Given the description of an element on the screen output the (x, y) to click on. 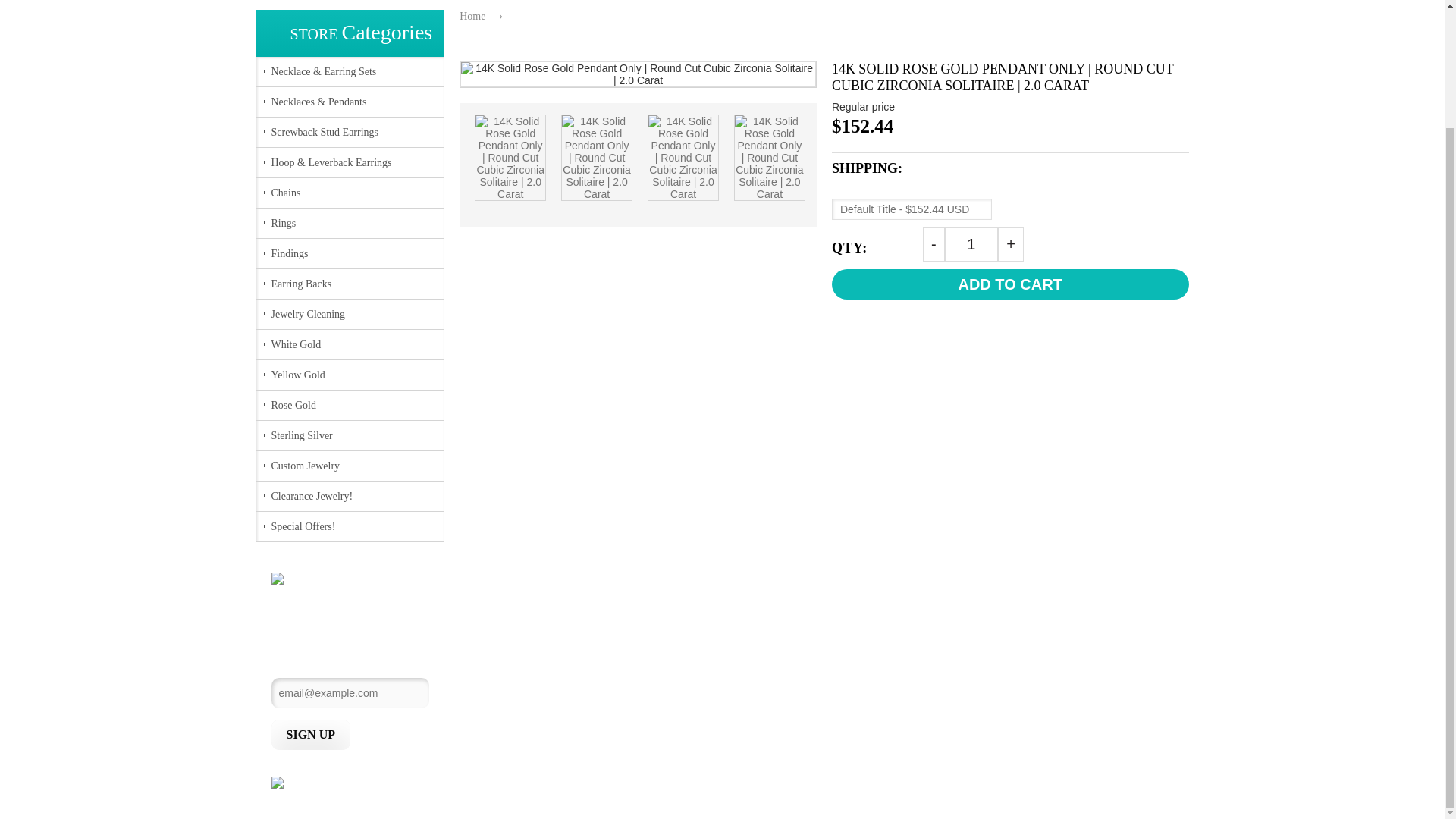
Back to the home page (475, 15)
1 (971, 244)
